Given the description of an element on the screen output the (x, y) to click on. 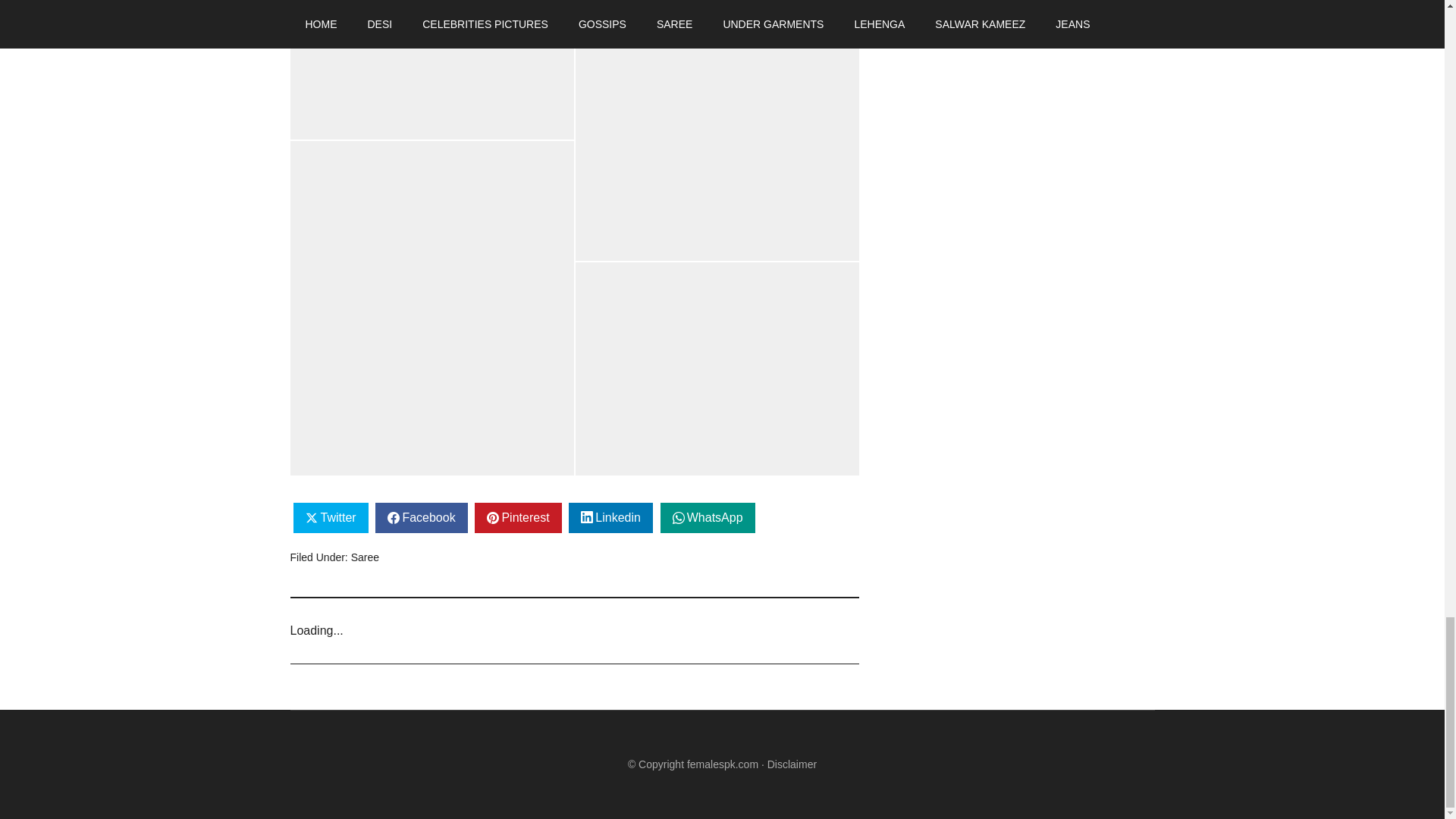
Saree (364, 557)
Linkedin (610, 517)
WhatsApp (708, 517)
Pinterest (517, 517)
Twitter (331, 517)
Facebook (421, 517)
